Given the description of an element on the screen output the (x, y) to click on. 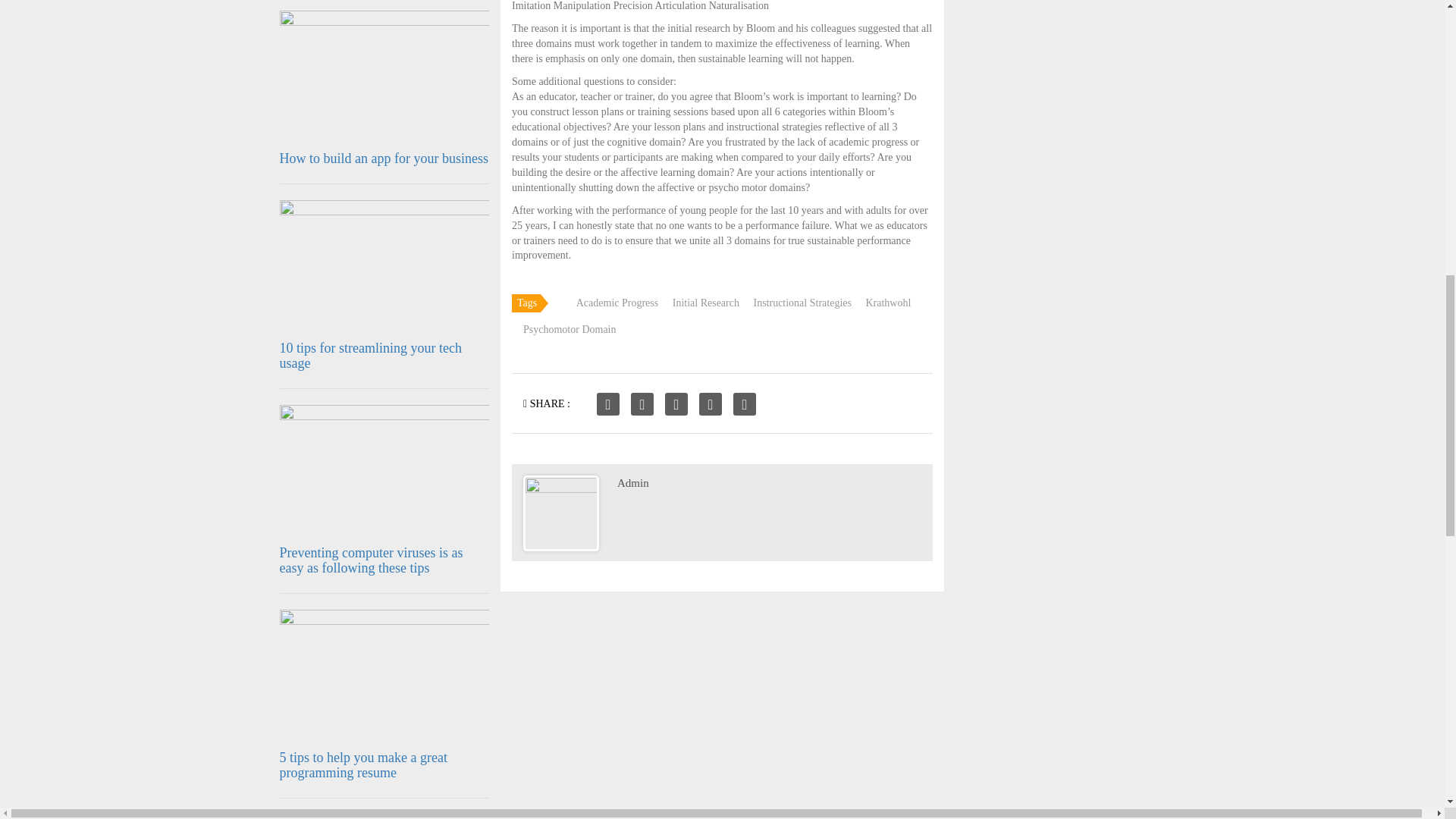
Share on Facebook (608, 404)
Posts by Admin (633, 482)
How to build an app for your business (383, 158)
